Given the description of an element on the screen output the (x, y) to click on. 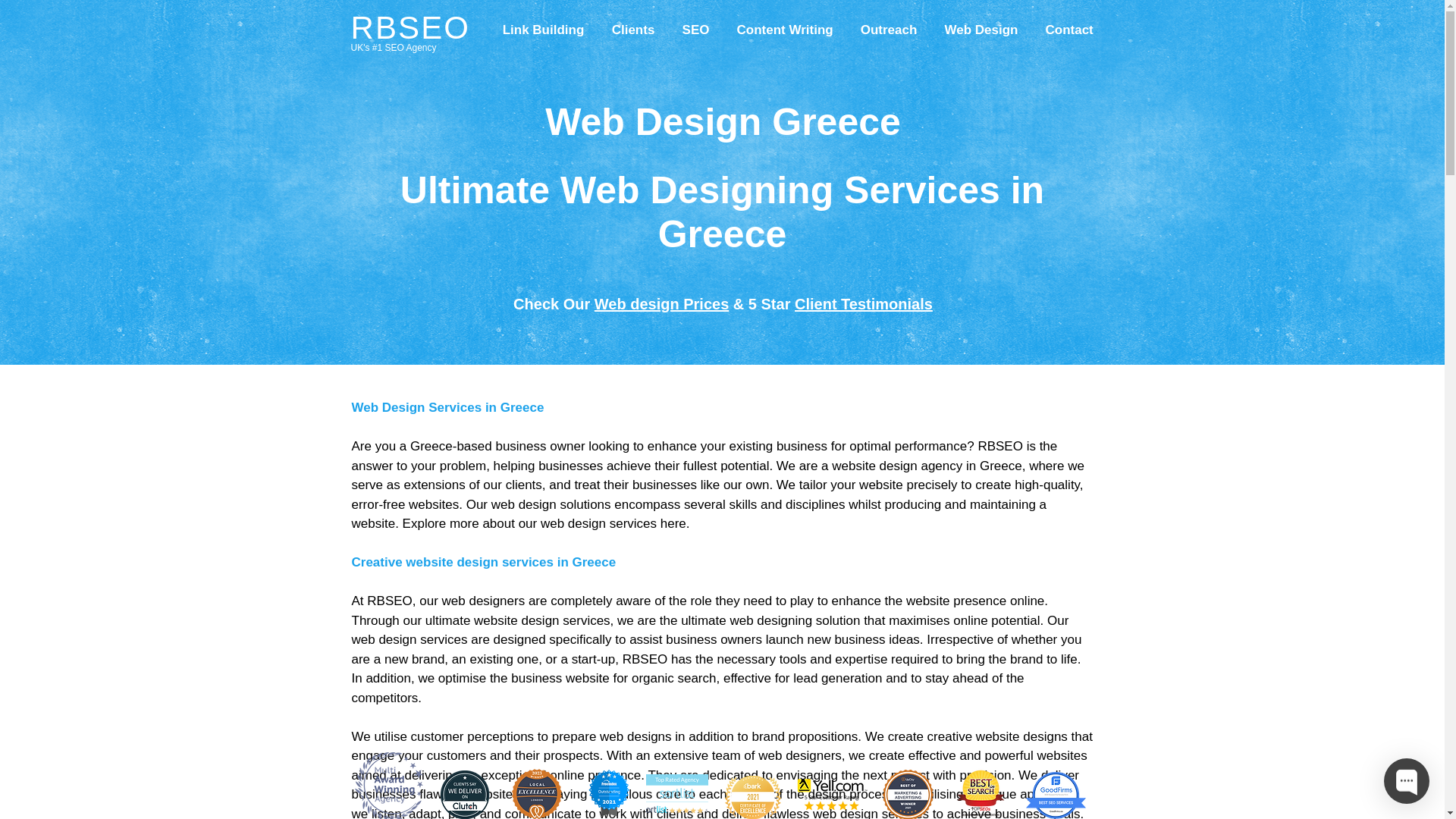
Clutch (464, 794)
Bark Professional (752, 797)
Web design Prices (661, 303)
Outreach (887, 23)
Web Design (981, 23)
Contact (1068, 23)
SEO (695, 23)
TopSeos (980, 793)
RBSEO (410, 27)
Awards (389, 785)
